Given the description of an element on the screen output the (x, y) to click on. 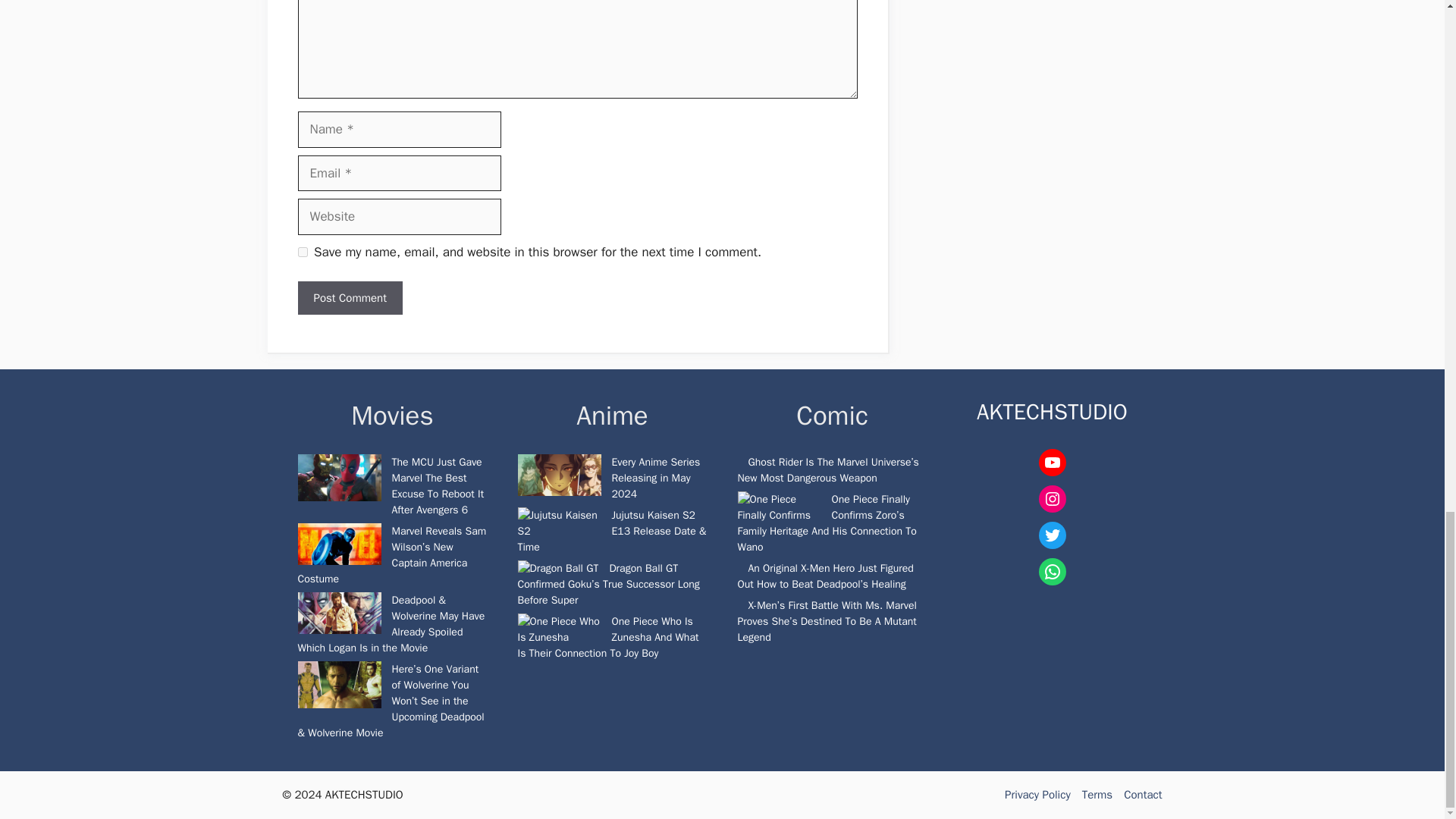
Scroll back to top (1406, 155)
yes (302, 252)
Post Comment (349, 298)
Post Comment (349, 298)
